Given the description of an element on the screen output the (x, y) to click on. 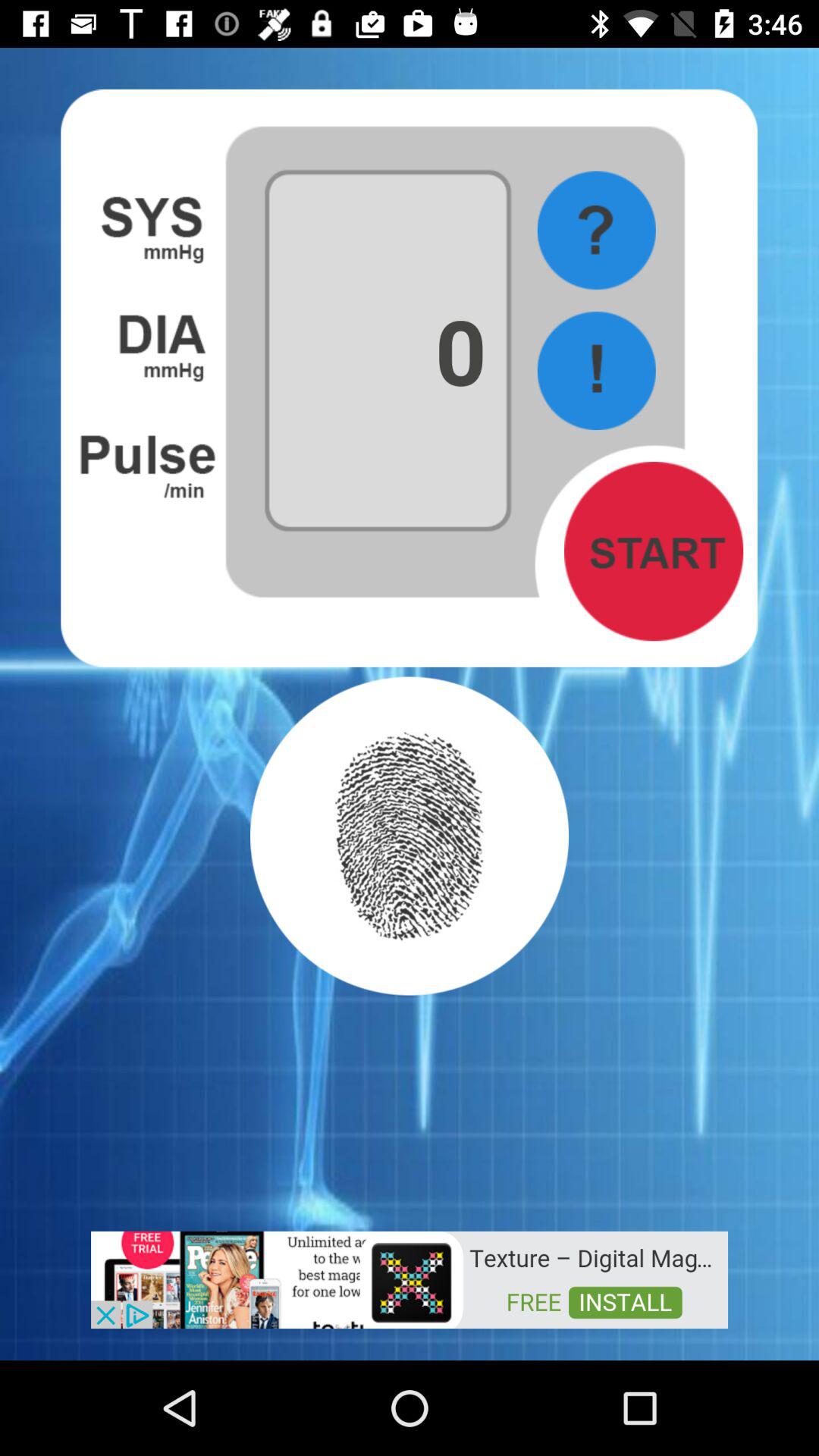
to start the test (653, 550)
